Given the description of an element on the screen output the (x, y) to click on. 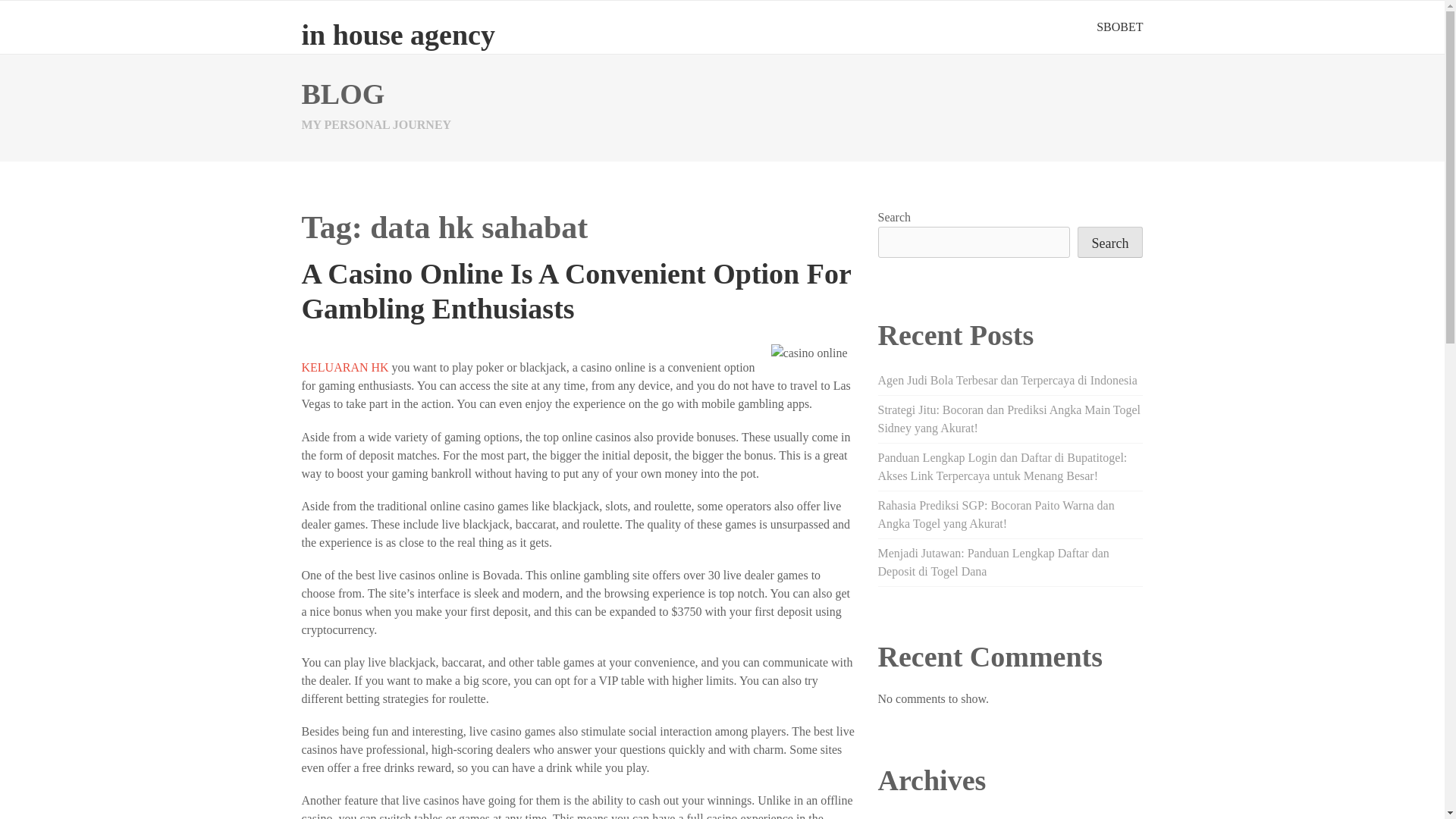
Agen Judi Bola Terbesar dan Terpercaya di Indonesia (1007, 379)
SBOBET (1119, 27)
KELUARAN HK (344, 367)
in house agency (398, 34)
Search (1109, 241)
